Given the description of an element on the screen output the (x, y) to click on. 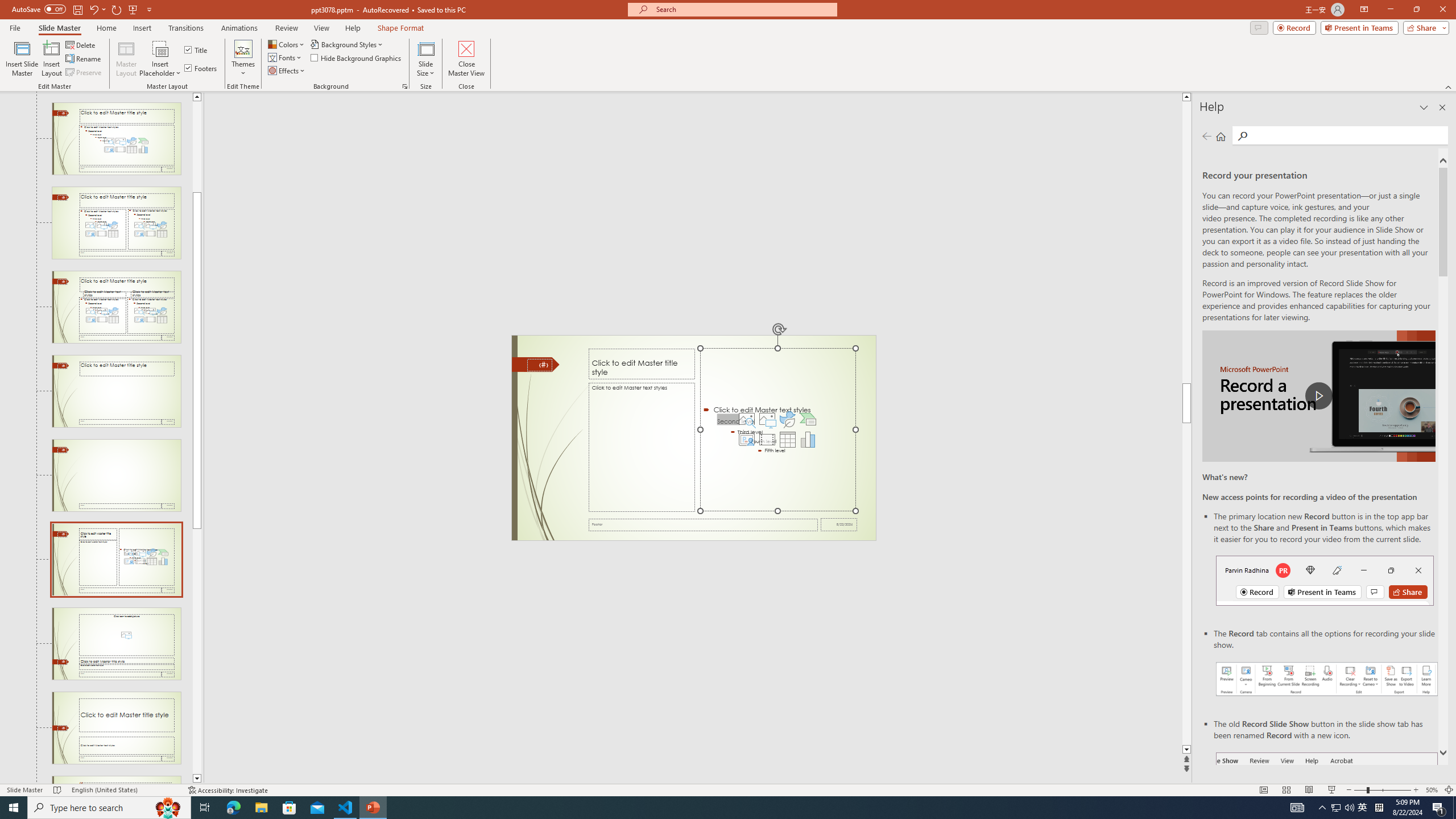
Stock Images (746, 419)
System (6, 6)
Slide Title Only Layout: used by no slides (116, 391)
Home (106, 28)
Title (196, 49)
Transitions (186, 28)
Slide Sorter (1286, 790)
Save (77, 9)
Delete (81, 44)
Content Placeholder (778, 429)
Undo (96, 9)
Shape Format (400, 28)
Insert an Icon (787, 419)
